Given the description of an element on the screen output the (x, y) to click on. 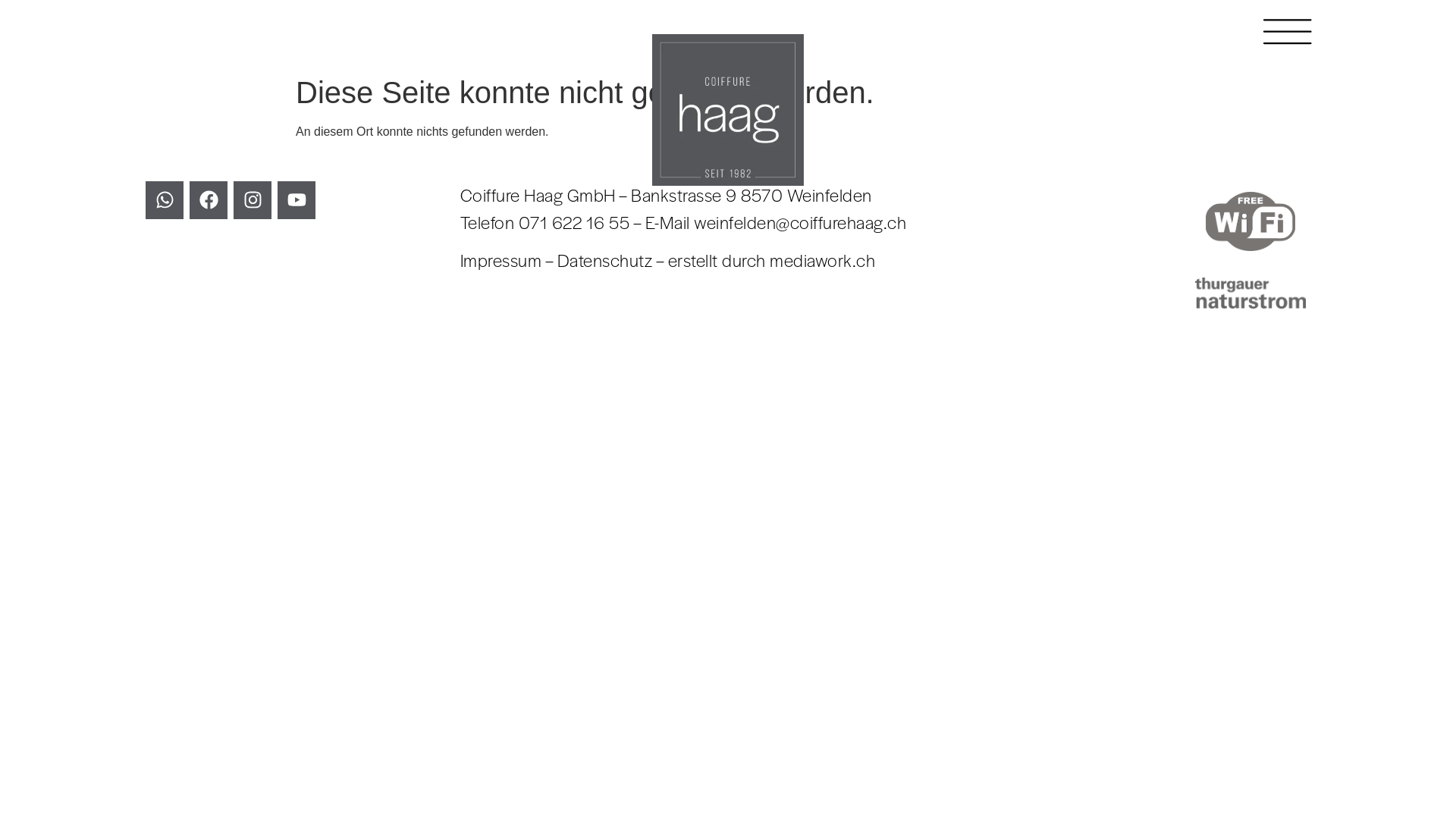
071 622 16 55 Element type: text (574, 222)
Datenschutz Element type: text (604, 259)
Impressum Element type: text (501, 259)
mediawork.ch Element type: text (822, 259)
weinfelden@coiffurehaag.ch Element type: text (799, 222)
